Given the description of an element on the screen output the (x, y) to click on. 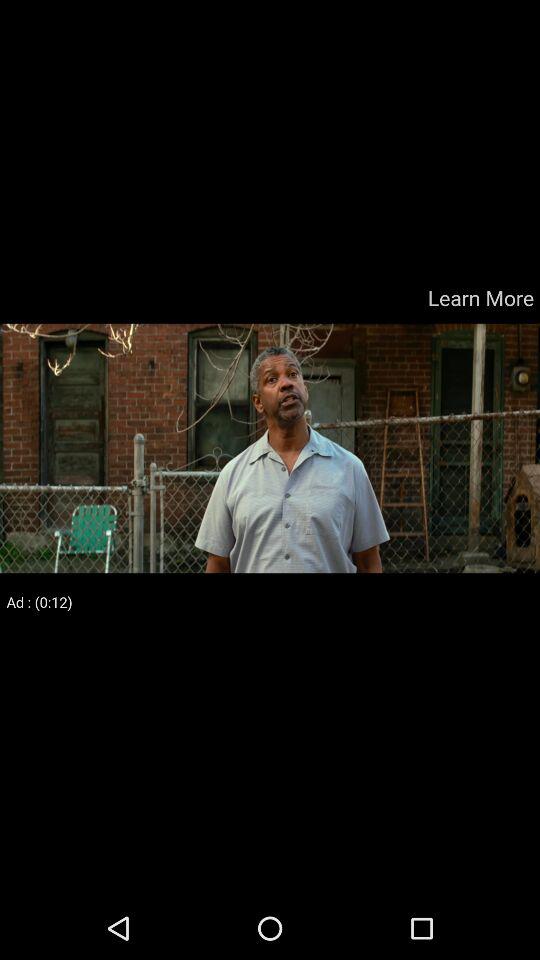
colour pinter (270, 448)
